Given the description of an element on the screen output the (x, y) to click on. 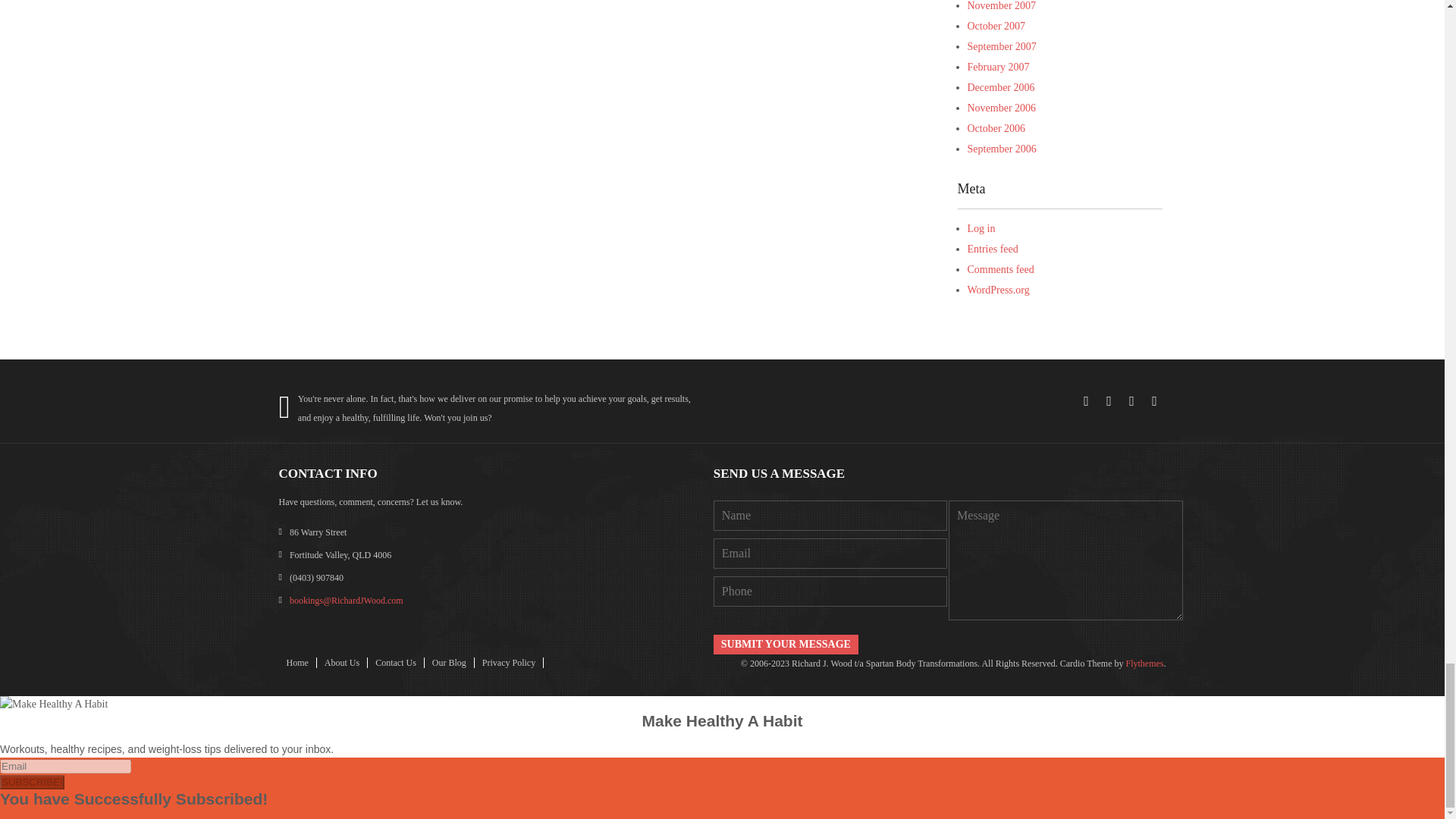
linkedin (1131, 400)
Submit Your Message (786, 644)
facebook (1086, 400)
twitter (1109, 400)
youtube (1154, 400)
